Given the description of an element on the screen output the (x, y) to click on. 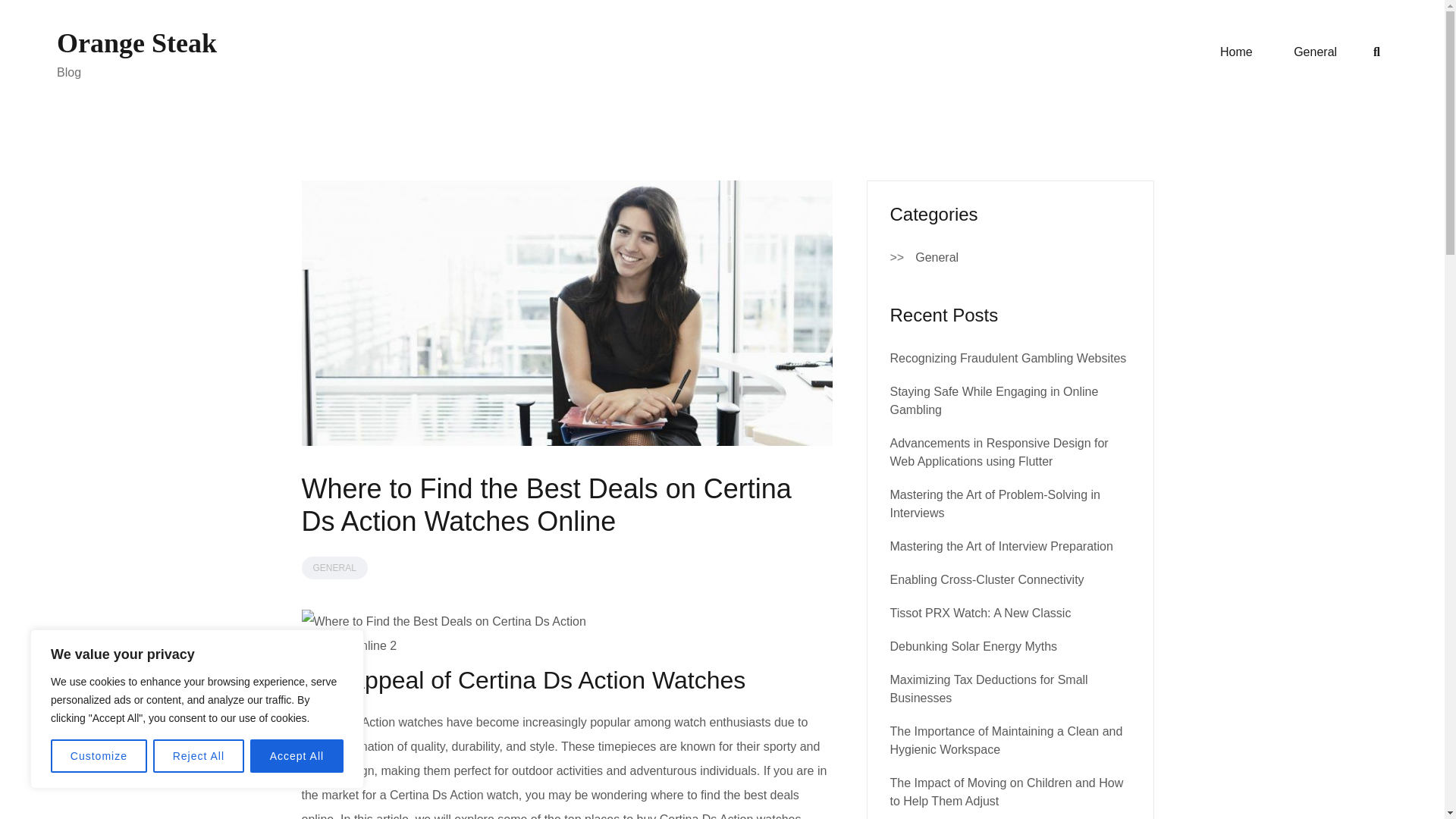
Mastering the Art of Interview Preparation (1001, 545)
Customize (98, 756)
Staying Safe While Engaging in Online Gambling (994, 400)
General (936, 257)
Recognizing Fraudulent Gambling Websites (1007, 358)
Mastering the Art of Problem-Solving in Interviews (994, 503)
General (1315, 52)
Orange Steak (136, 42)
Reject All (198, 756)
